Given the description of an element on the screen output the (x, y) to click on. 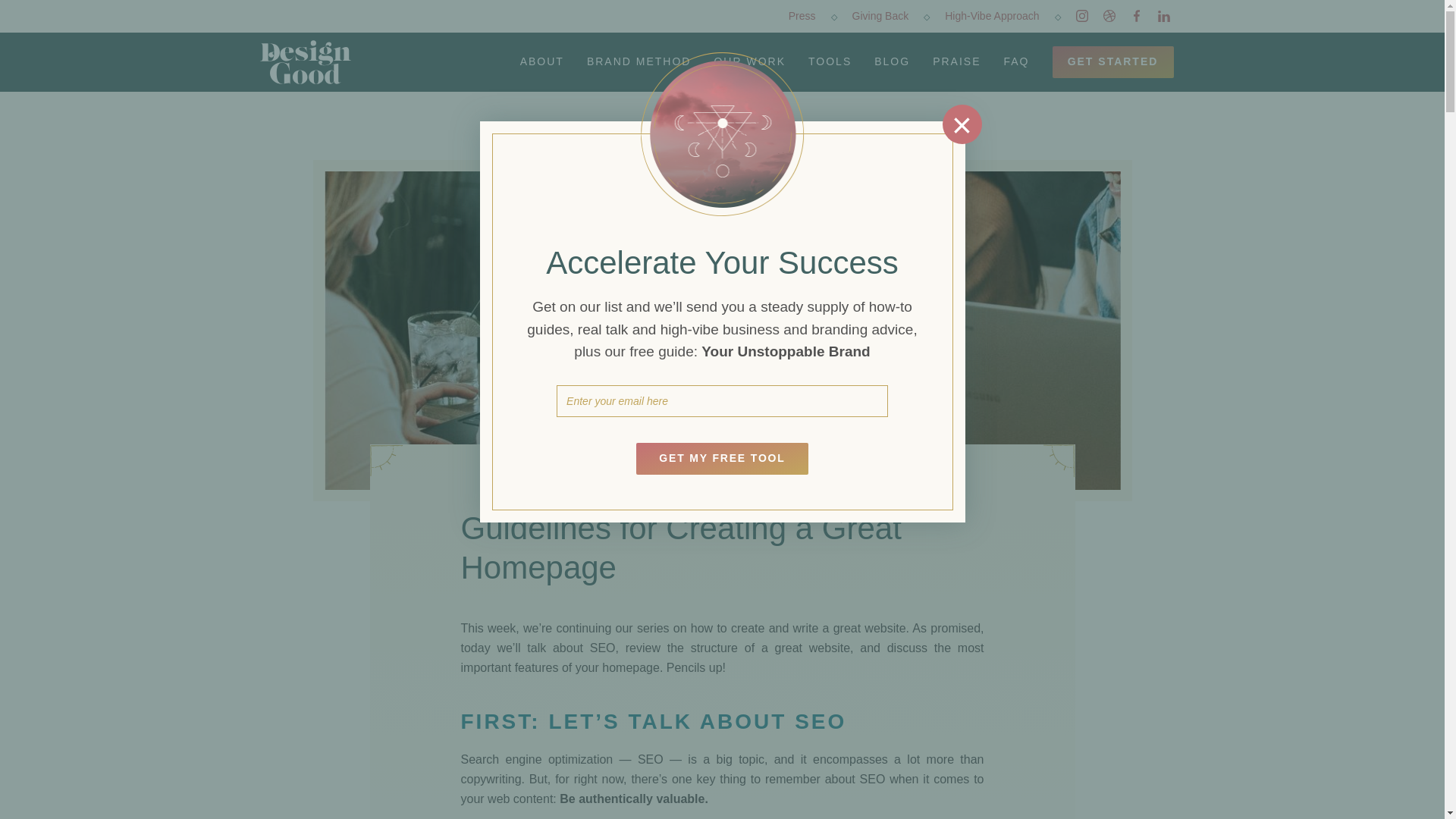
ABOUT (541, 61)
TOOLS (829, 61)
High-Vibe Approach (1002, 16)
OUR WORK (749, 61)
Giving Back (890, 16)
Get My Free Tool (722, 459)
PRAISE (956, 61)
FAQ (1016, 61)
Press (812, 16)
BRAND METHOD (638, 61)
BLOG (892, 61)
GET STARTED (1112, 61)
